Given the description of an element on the screen output the (x, y) to click on. 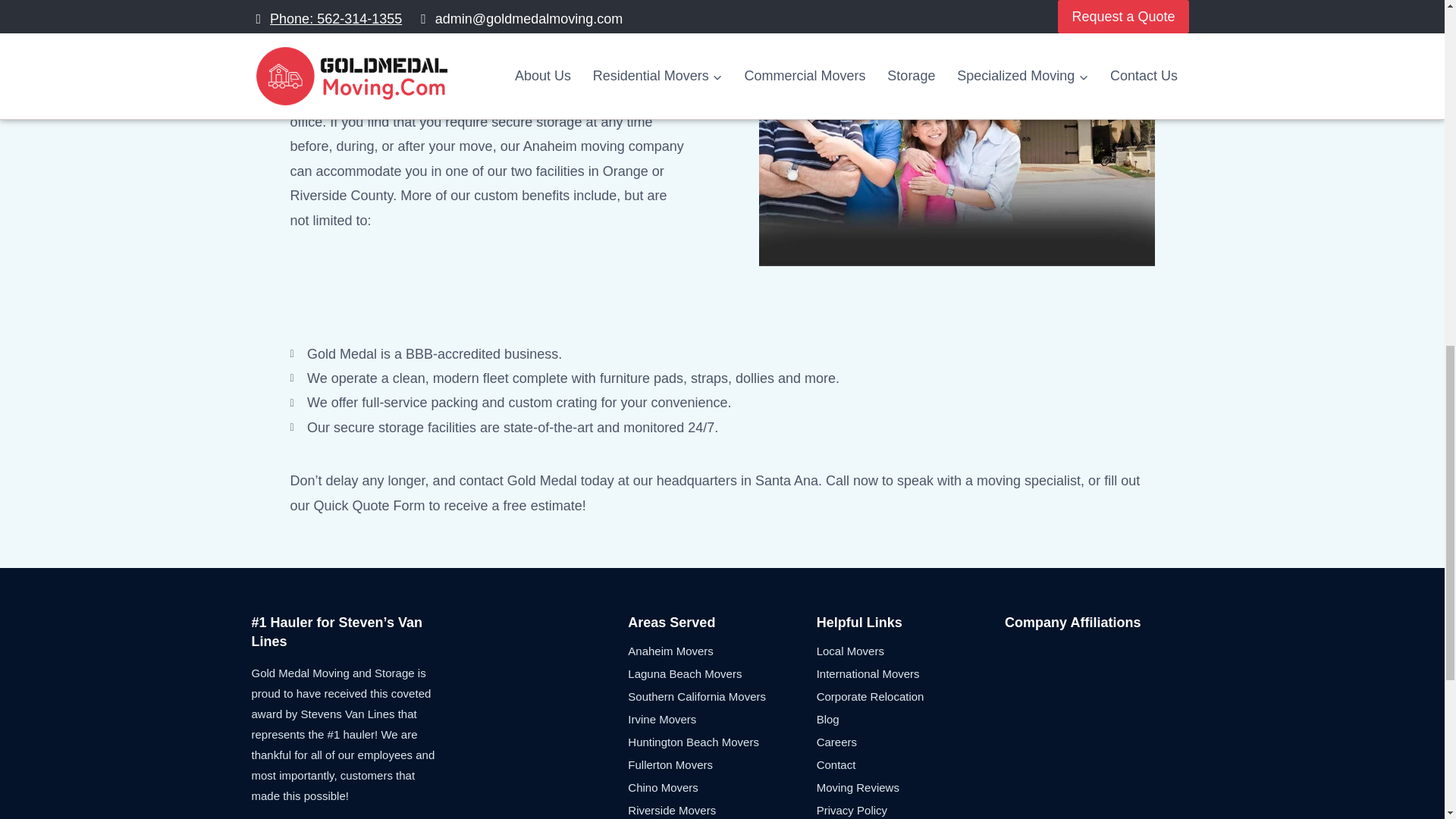
Contact (910, 763)
International Movers (910, 672)
Fullerton Movers (721, 763)
Irvine Movers (721, 718)
Moving Reviews (910, 786)
Laguna Beach Movers (721, 672)
Anaheim Movers (721, 650)
Privacy Policy (910, 808)
Huntington Beach Movers (721, 741)
Chino Movers (721, 786)
Corporate Relocation (910, 695)
Riverside Movers (721, 808)
Careers (910, 741)
Southern California Movers (721, 695)
Blog (910, 718)
